Given the description of an element on the screen output the (x, y) to click on. 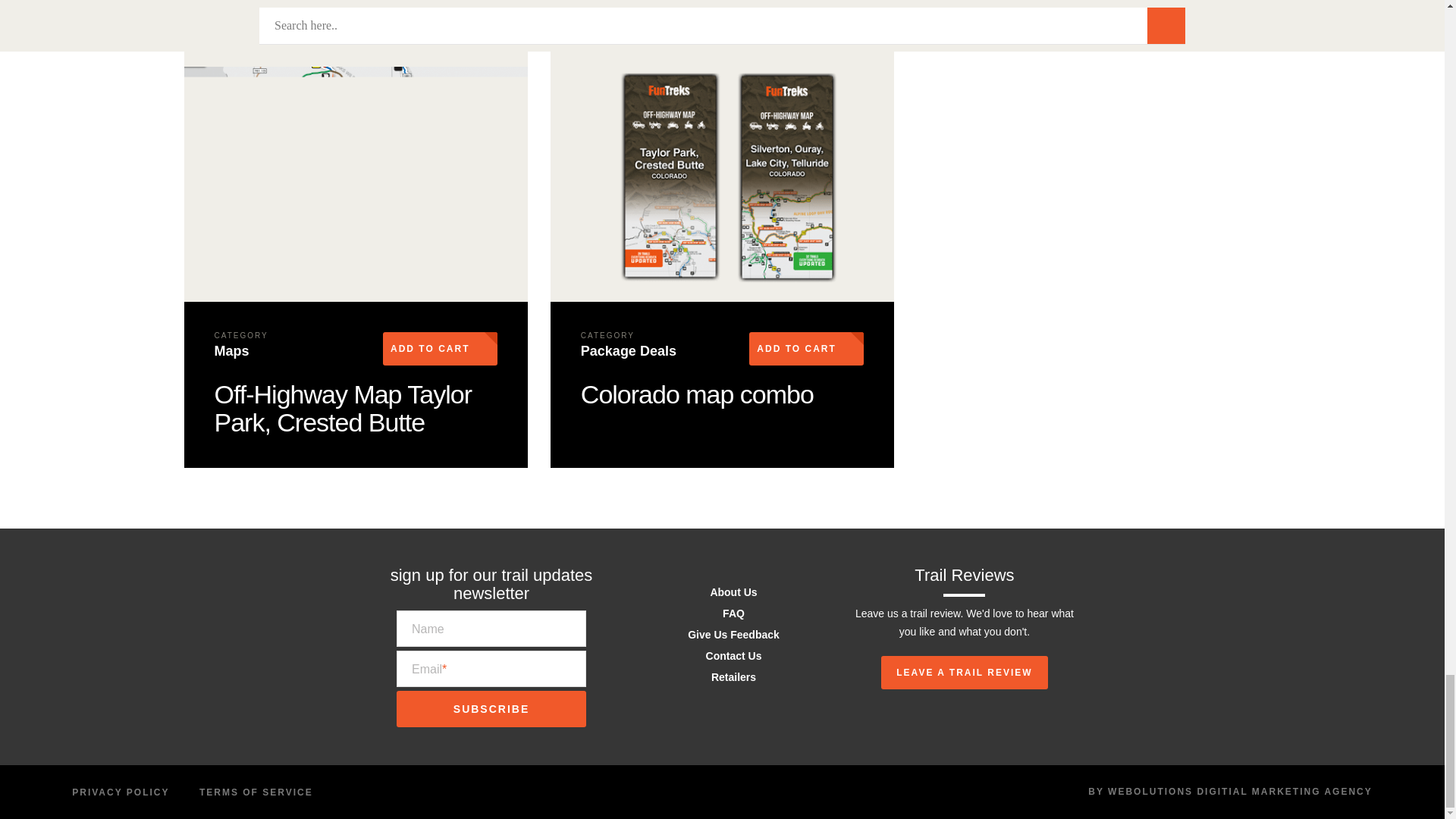
ADD TO CART (806, 348)
Colorado map combo (696, 394)
FAQ (733, 613)
About Us (733, 592)
Subscribe (491, 709)
Subscribe (491, 709)
ADD TO CART (439, 348)
Off-Highway Map Taylor Park, Crested Butte (342, 408)
